Given the description of an element on the screen output the (x, y) to click on. 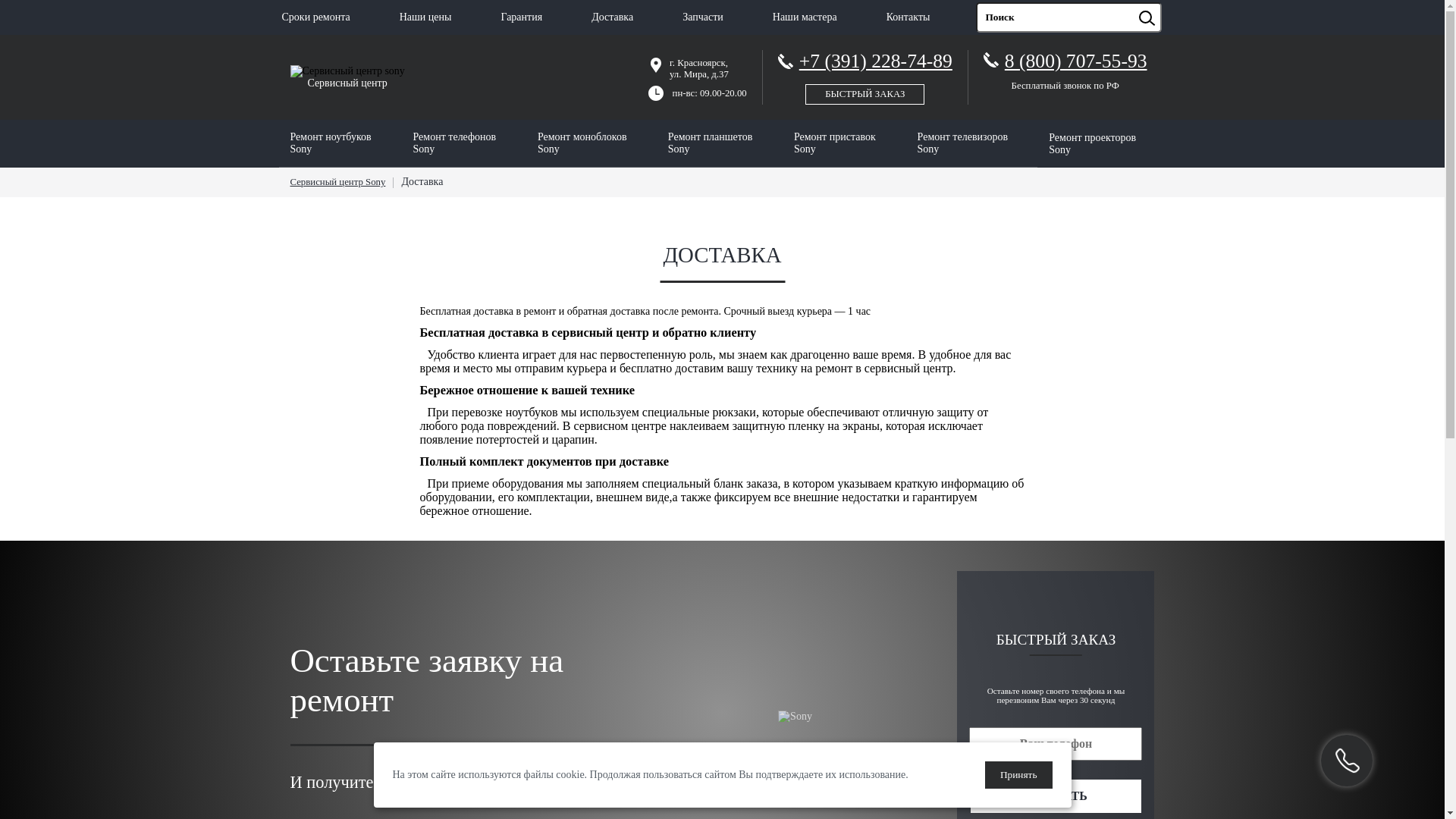
sisea.search Element type: text (1165, 2)
+7 (391) 228-74-89 Element type: text (865, 74)
8 (800) 707-55-93 Element type: text (1075, 61)
